Given the description of an element on the screen output the (x, y) to click on. 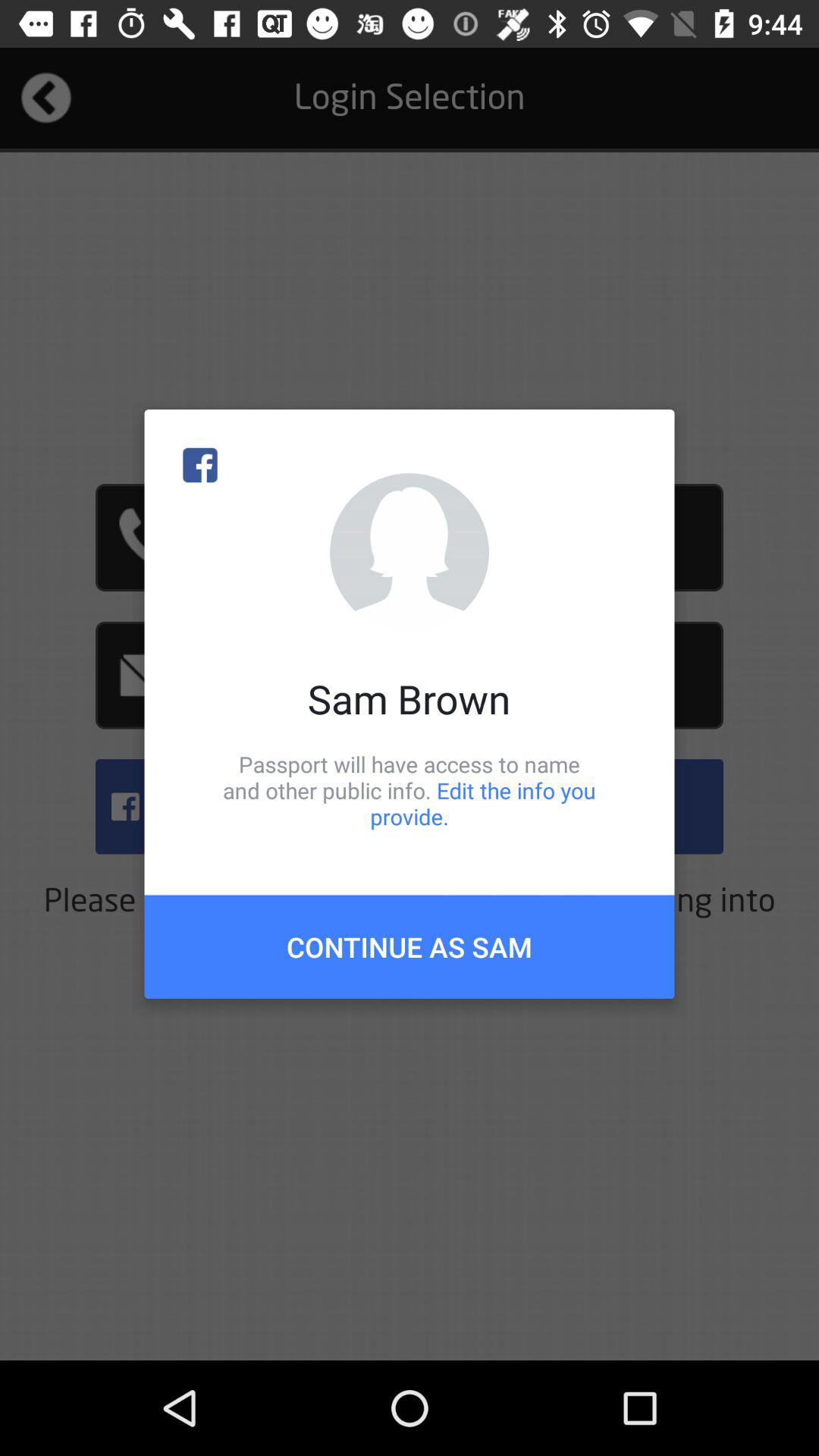
tap continue as sam item (409, 946)
